Given the description of an element on the screen output the (x, y) to click on. 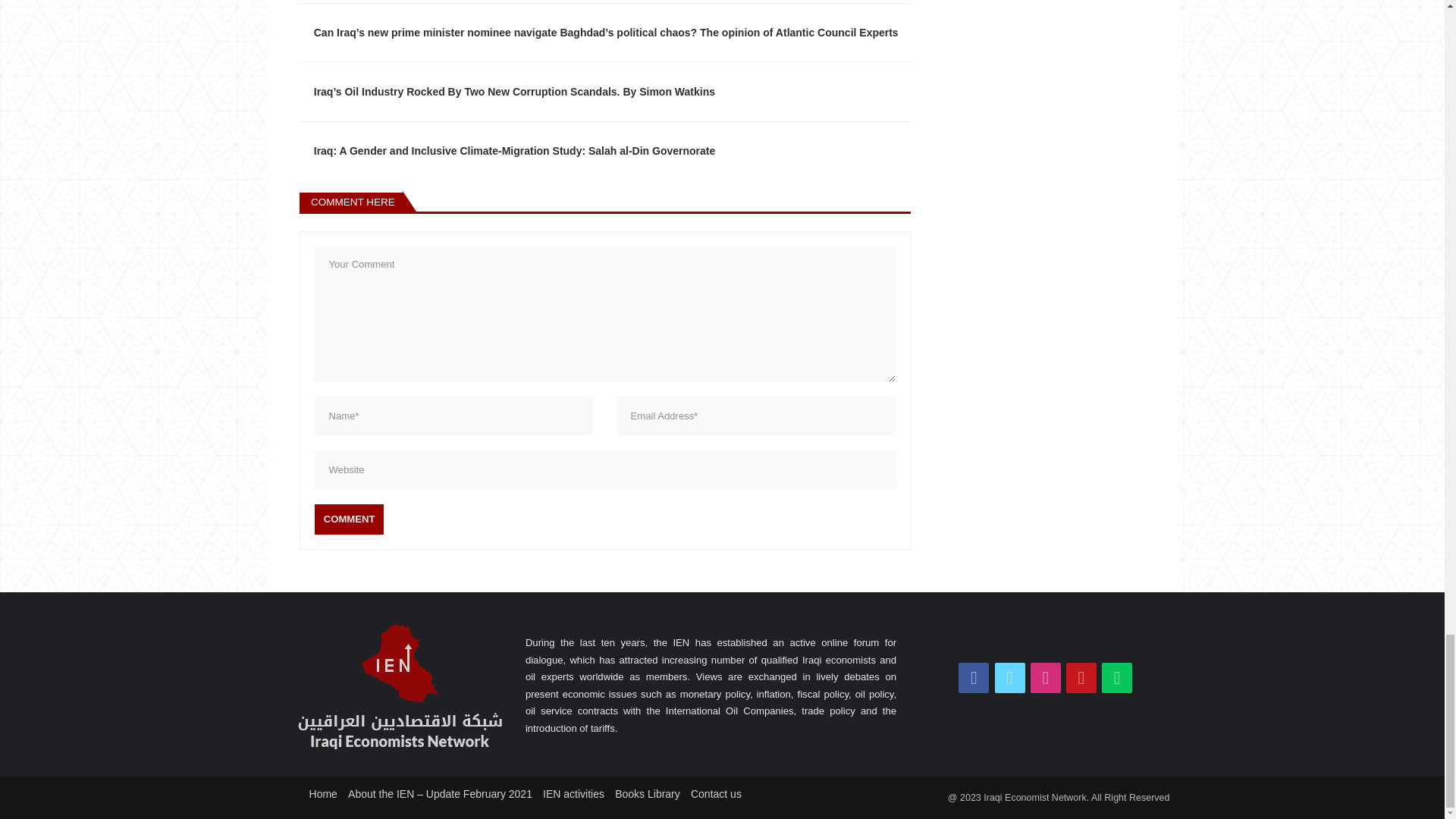
Comment (349, 519)
